Given the description of an element on the screen output the (x, y) to click on. 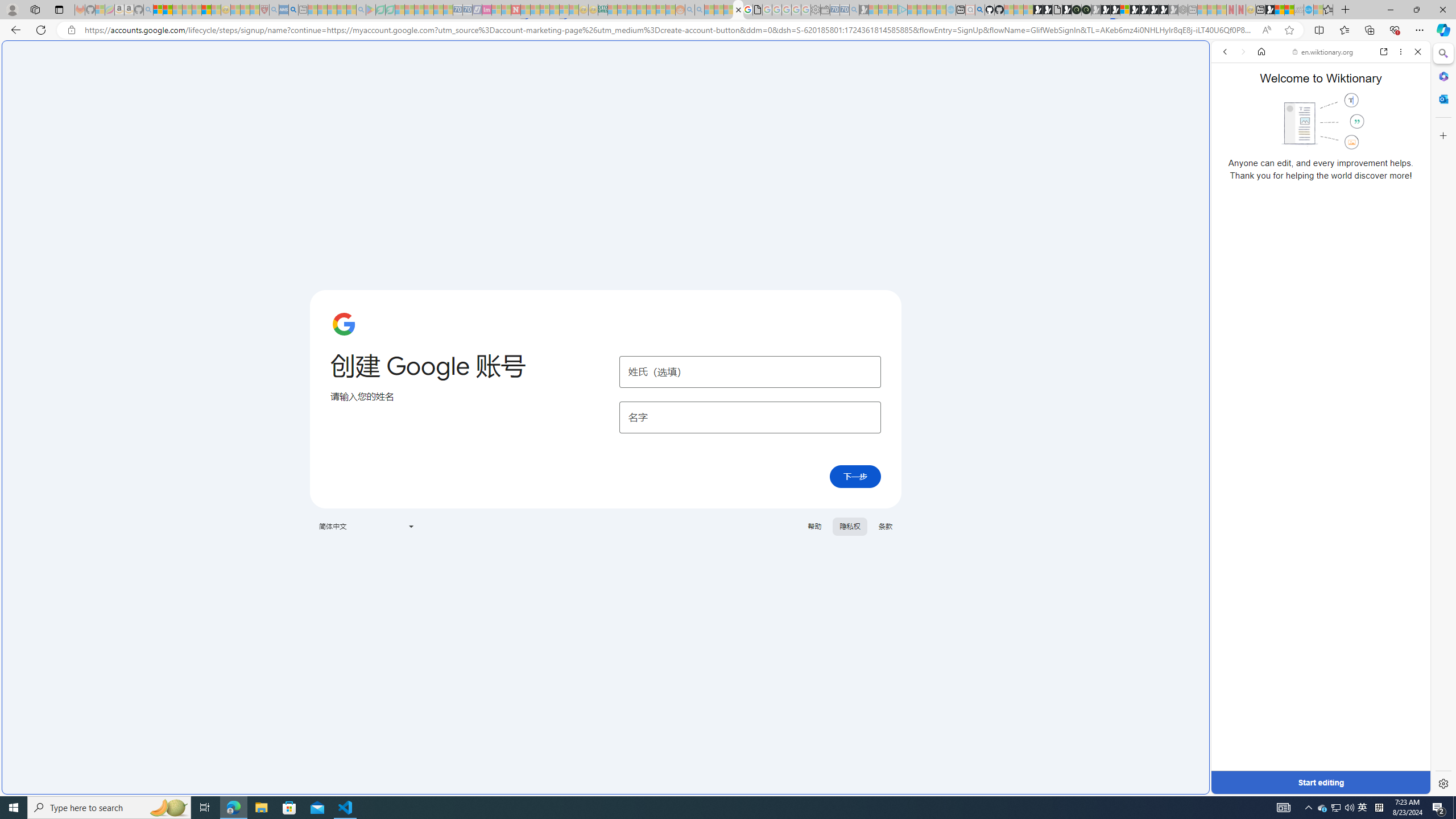
Frequently visited (965, 151)
